Given the description of an element on the screen output the (x, y) to click on. 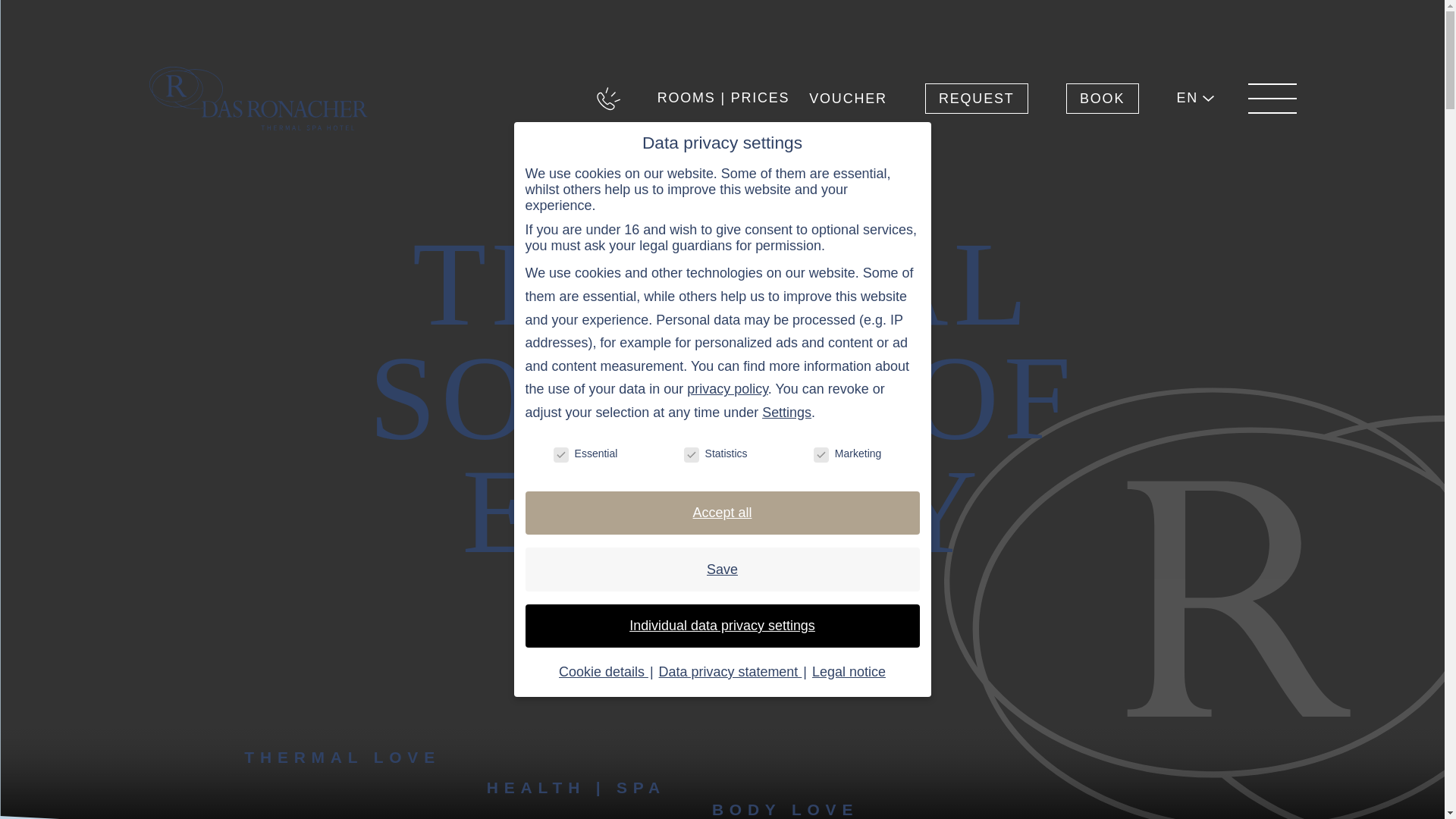
VOUCHER (847, 98)
REQUEST (975, 98)
Das Ronacher (258, 98)
BOOK (1120, 98)
